Given the description of an element on the screen output the (x, y) to click on. 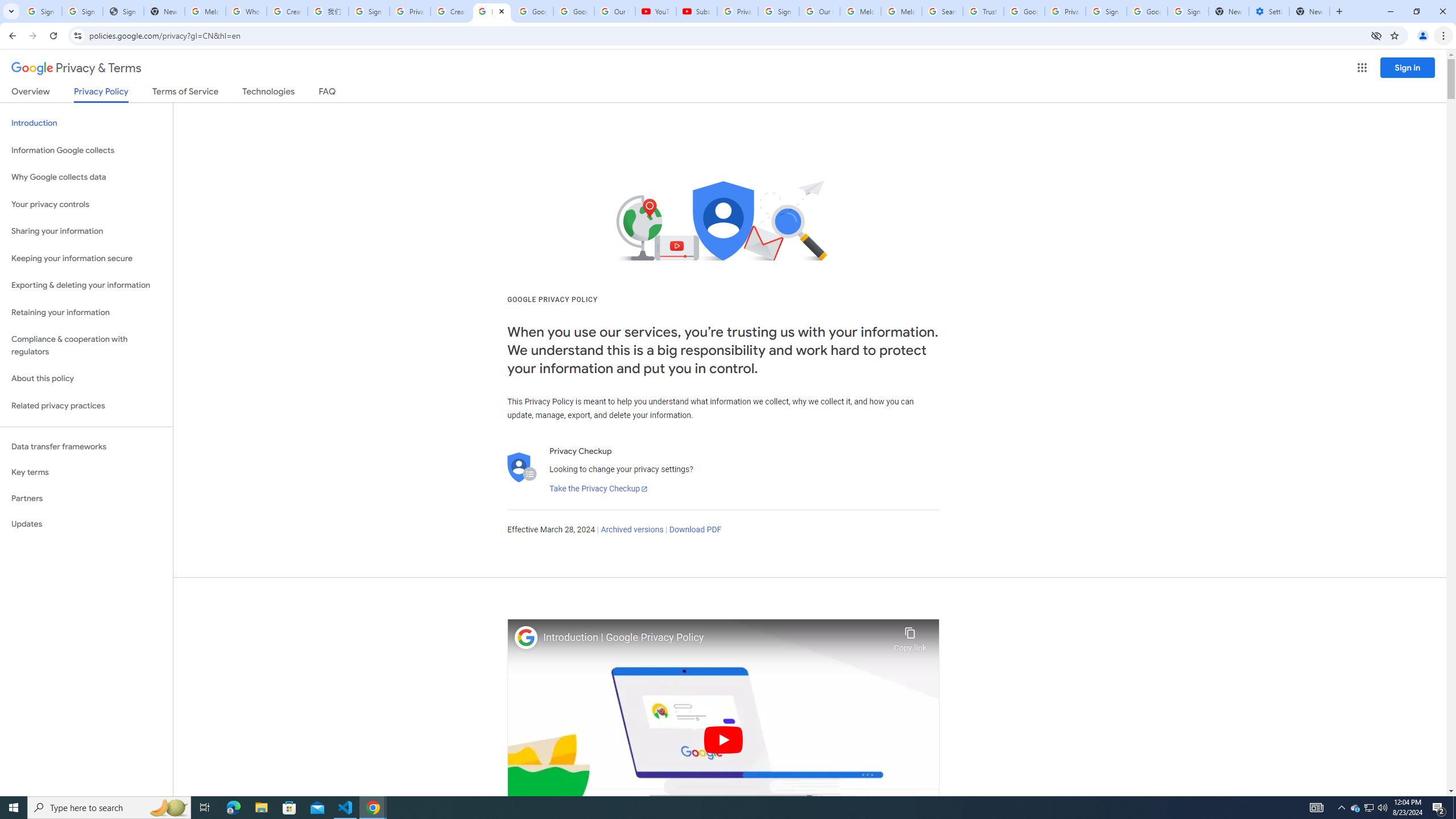
Create your Google Account (450, 11)
YouTube (655, 11)
Google Cybersecurity Innovations - Google Safety Center (1146, 11)
Copy link (909, 636)
Trusted Information and Content - Google Safety Center (983, 11)
About this policy (86, 379)
Take the Privacy Checkup (597, 488)
Exporting & deleting your information (86, 284)
